Given the description of an element on the screen output the (x, y) to click on. 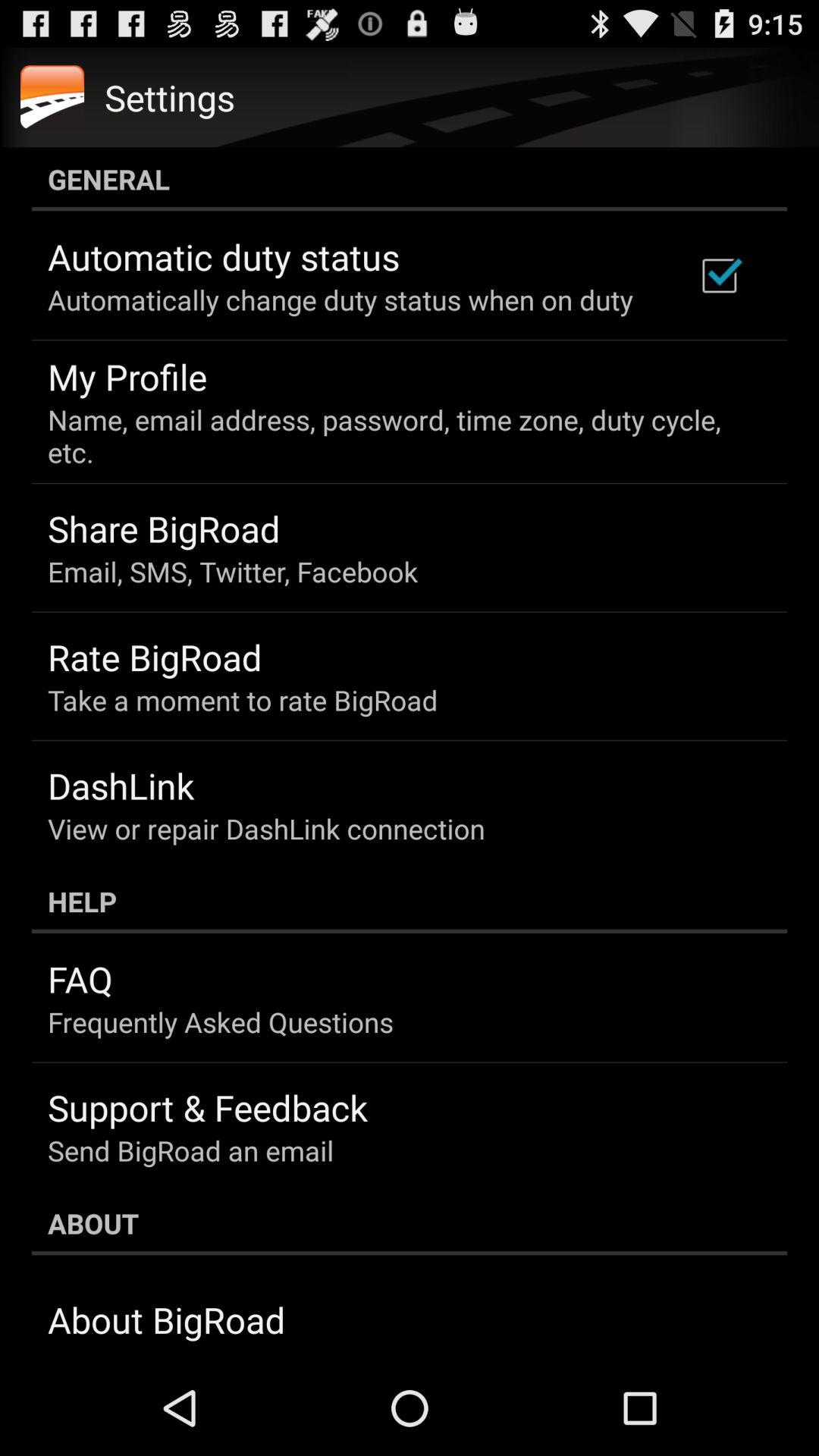
open icon above the dashlink (242, 699)
